Given the description of an element on the screen output the (x, y) to click on. 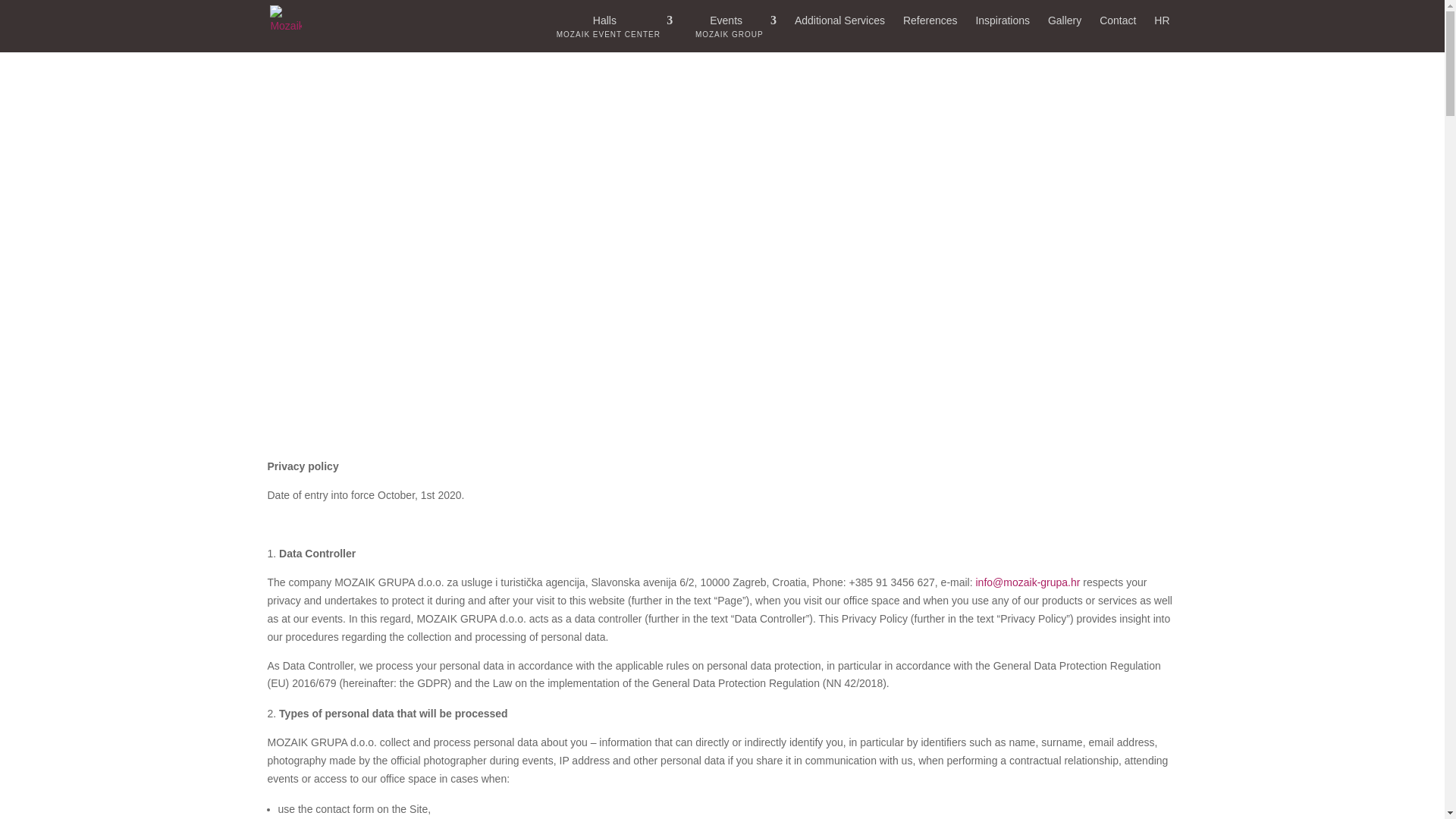
Contact (1117, 33)
Inspirations (1002, 33)
Gallery (612, 33)
Additional Services (1064, 33)
References (839, 33)
